Given the description of an element on the screen output the (x, y) to click on. 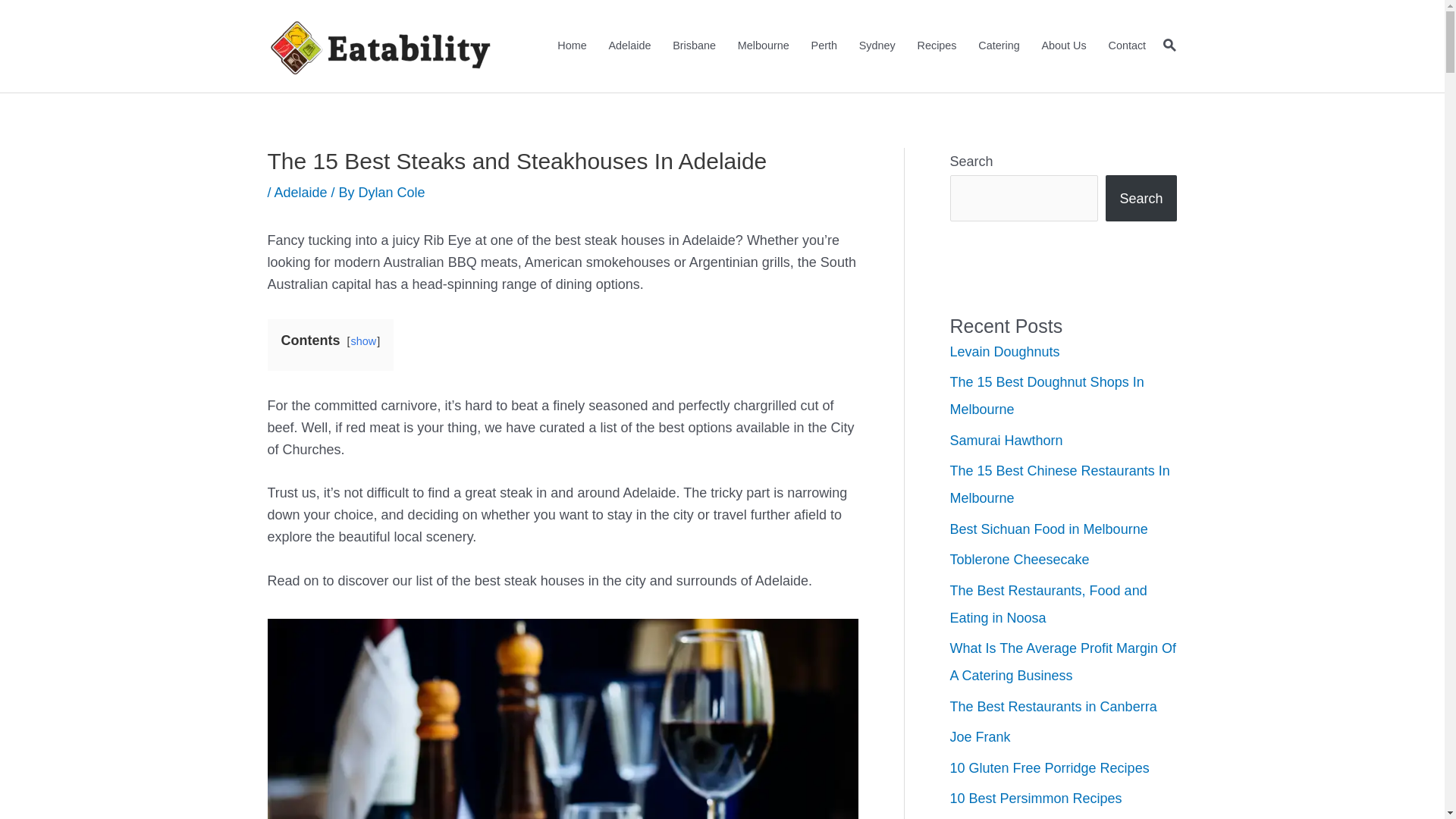
10 Gluten Free Porridge Recipes Element type: text (1048, 767)
Samurai Hawthorn Element type: text (1005, 440)
10 Best Persimmon Recipes Element type: text (1035, 798)
Best Sichuan Food in Melbourne Element type: text (1048, 528)
Catering Element type: text (998, 46)
Melbourne Element type: text (763, 46)
Dylan Cole Element type: text (391, 192)
The 15 Best Doughnut Shops In Melbourne Element type: text (1046, 395)
About Us Element type: text (1063, 46)
Toblerone Cheesecake Element type: text (1018, 559)
Sydney Element type: text (876, 46)
Levain Doughnuts Element type: text (1004, 351)
show Element type: text (363, 341)
The 15 Best Chinese Restaurants In Melbourne Element type: text (1059, 484)
Adelaide Element type: text (629, 46)
The Best Restaurants, Food and Eating in Noosa Element type: text (1047, 604)
Home Element type: text (571, 46)
Brisbane Element type: text (694, 46)
Contact Element type: text (1126, 46)
What Is The Average Profit Margin Of A Catering Business Element type: text (1062, 661)
Search Element type: text (1140, 198)
Perth Element type: text (823, 46)
Recipes Element type: text (936, 46)
Adelaide Element type: text (300, 192)
Joe Frank Element type: text (979, 736)
The Best Restaurants in Canberra Element type: text (1052, 706)
